Given the description of an element on the screen output the (x, y) to click on. 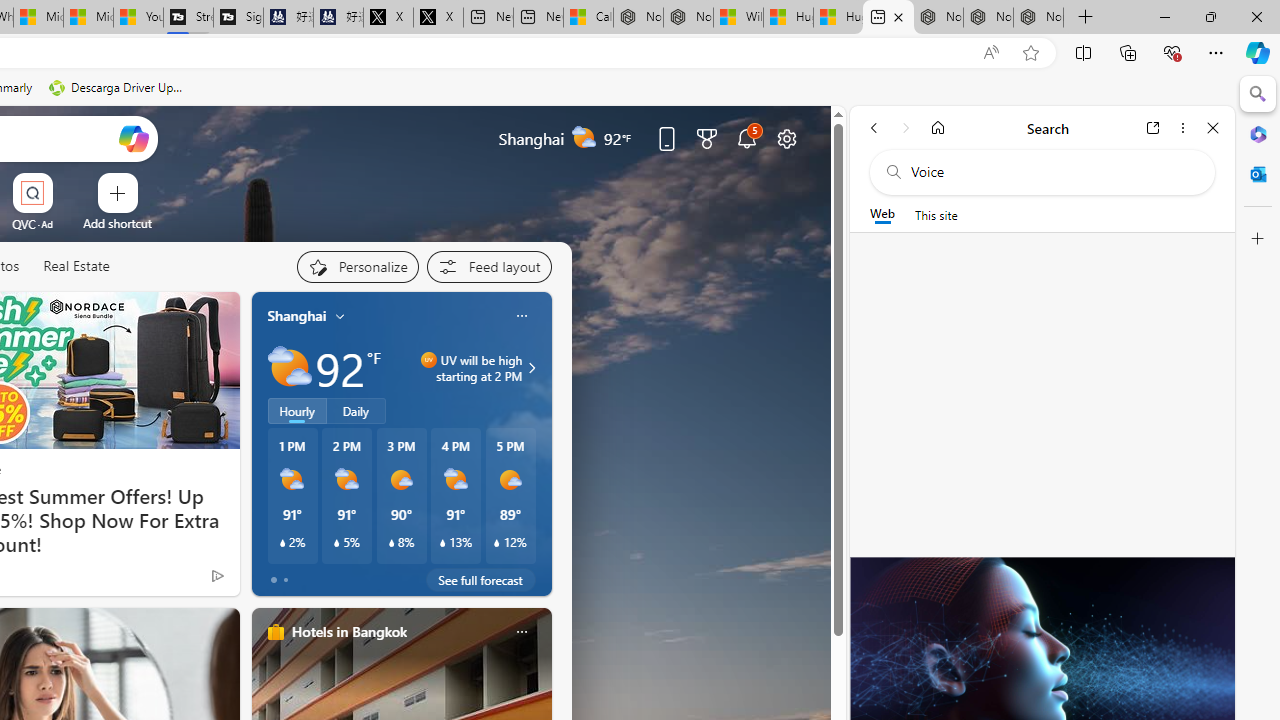
Nordace - Siena Pro 15 Essential Set (1038, 17)
tab-0 (273, 579)
